Given the description of an element on the screen output the (x, y) to click on. 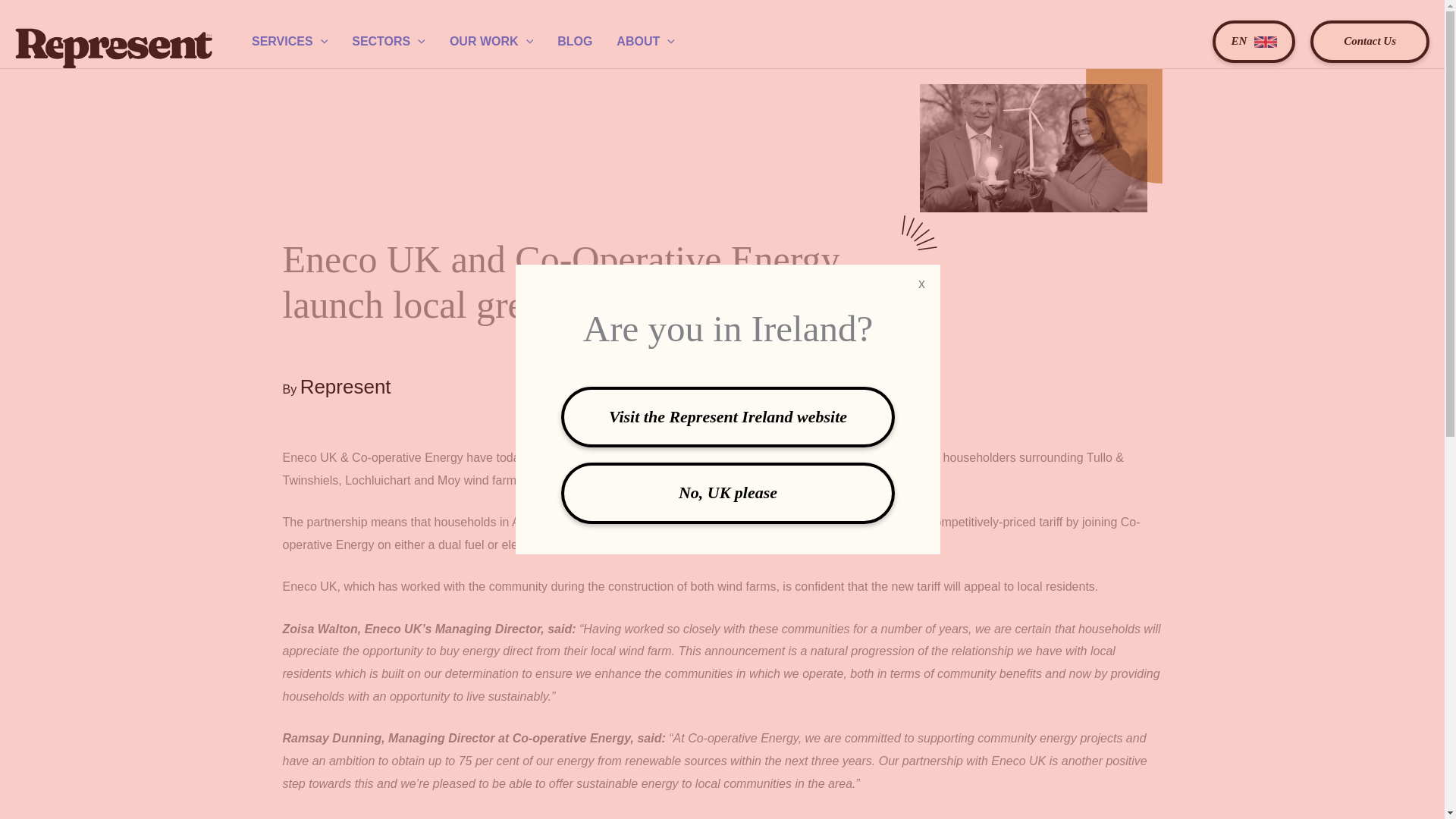
View all posts by Represent (345, 389)
Contact Us (1369, 41)
SECTORS (388, 41)
OUR WORK (491, 41)
BLOG (574, 41)
SERVICES (289, 41)
ABOUT (644, 41)
EN (1253, 41)
